Given the description of an element on the screen output the (x, y) to click on. 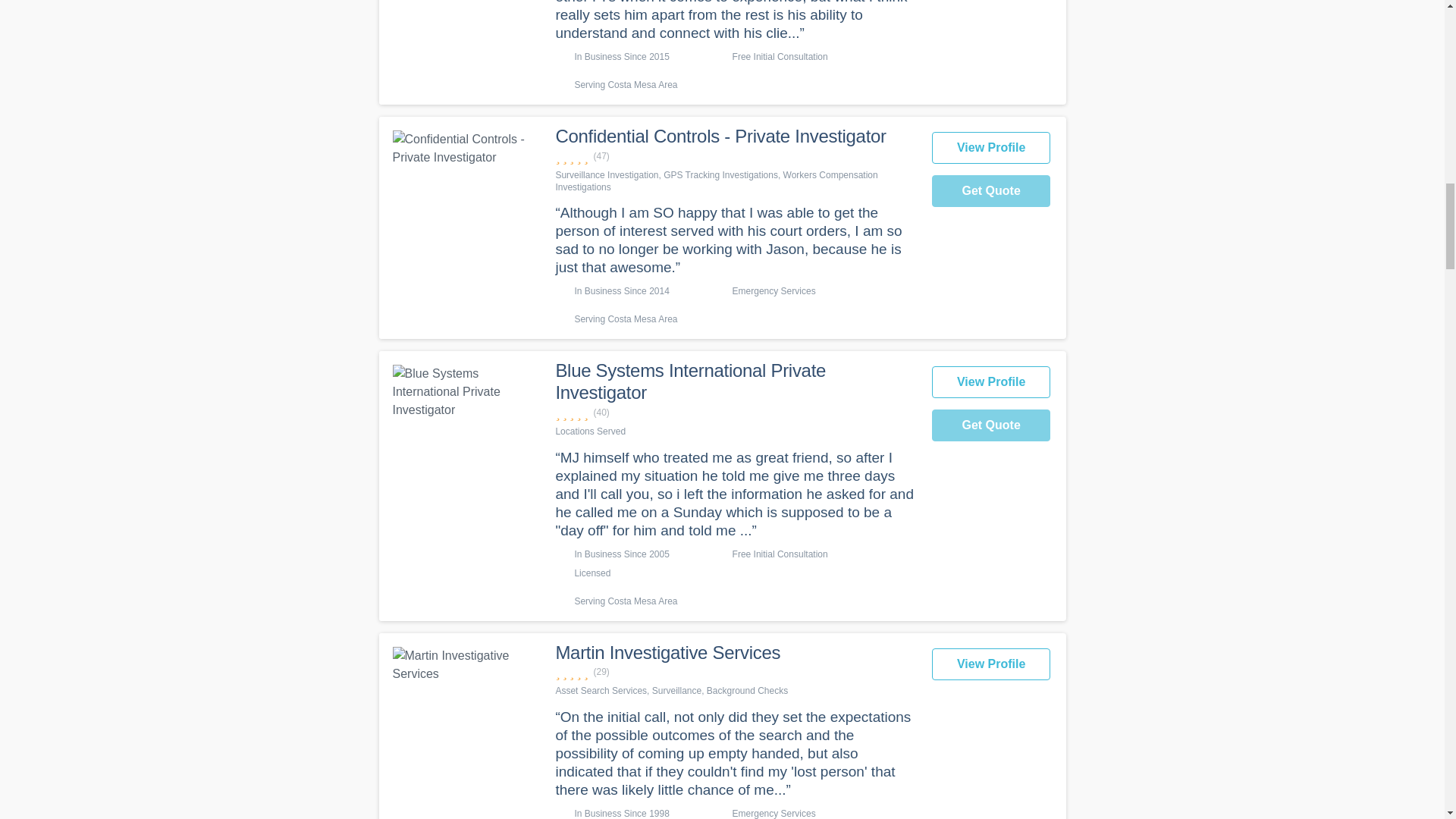
4.7 (734, 412)
4.8 (734, 672)
4.9 (734, 156)
